Given the description of an element on the screen output the (x, y) to click on. 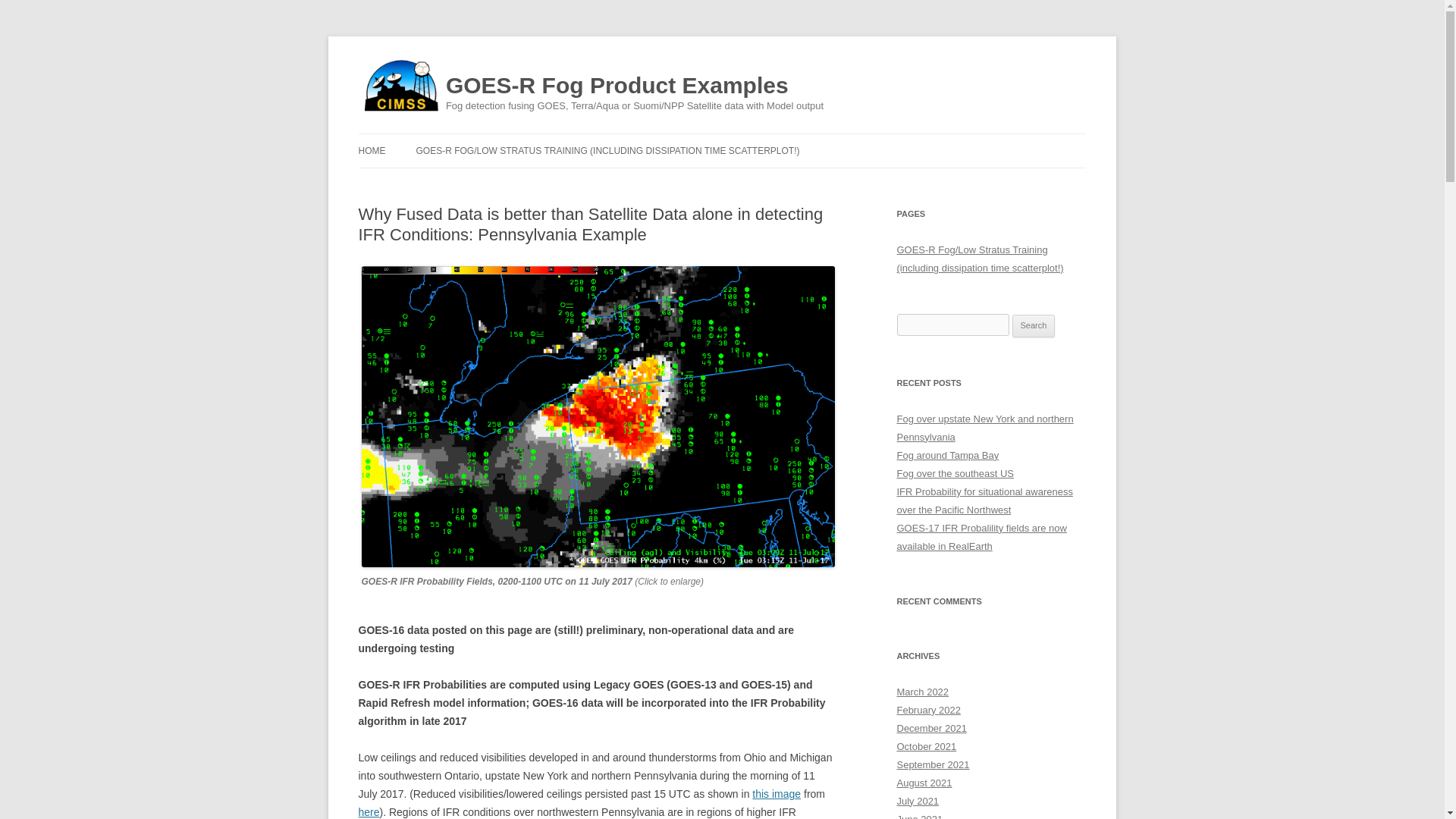
August 2021 (924, 782)
Search (1033, 325)
Fog around Tampa Bay (947, 455)
Skip to content (757, 138)
Skip to content (757, 138)
GOES-R Fog Product Examples (617, 85)
February 2022 (927, 709)
Fog over upstate New York and northern Pennsylvania (984, 428)
July 2021 (917, 800)
Fog over the southeast US (954, 473)
March 2022 (922, 691)
GOES-R Fog Product Examples (617, 85)
December 2021 (931, 727)
September 2021 (932, 764)
